Given the description of an element on the screen output the (x, y) to click on. 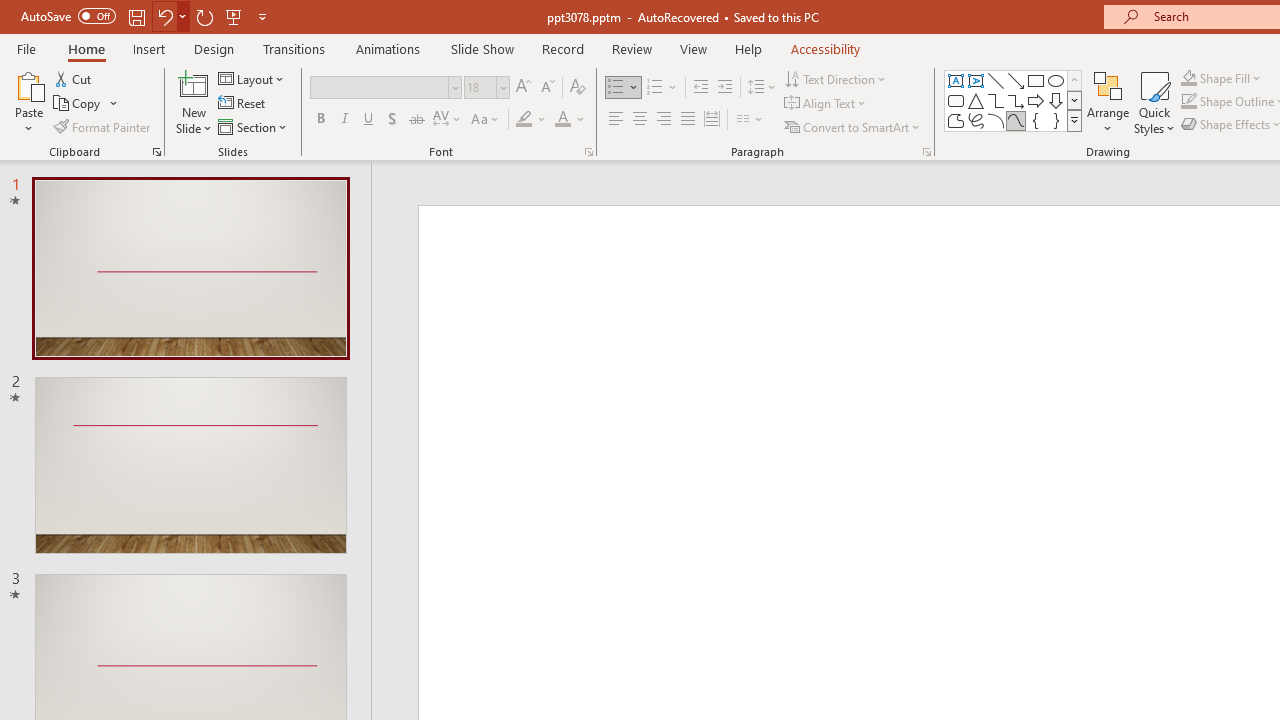
Shape Fill Dark Green, Accent 2 (1188, 78)
